Given the description of an element on the screen output the (x, y) to click on. 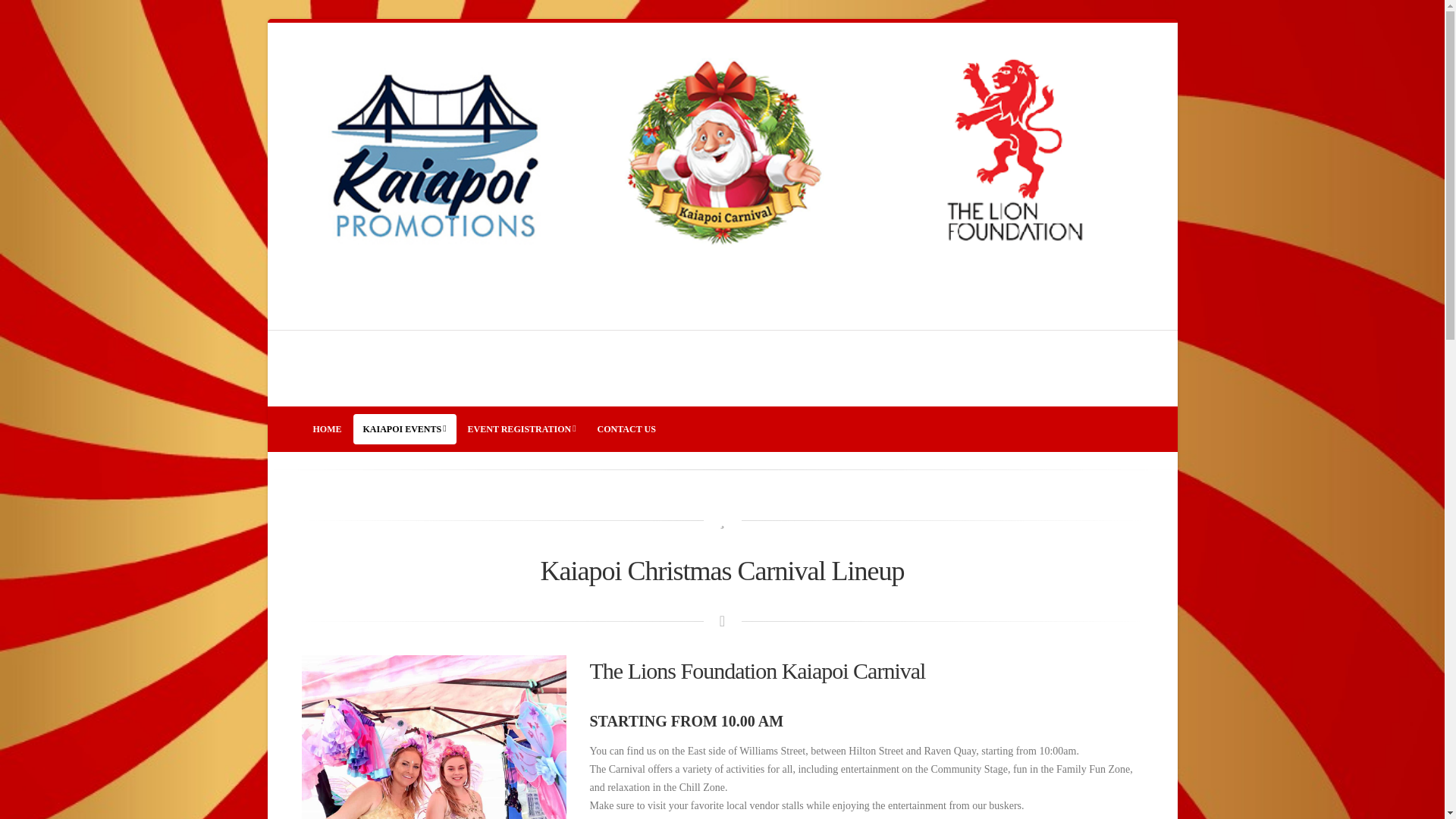
EVENT REGISTRATION (522, 429)
KAIAPOI EVENTS (405, 429)
CONTACT US (626, 429)
HOME (327, 429)
